Given the description of an element on the screen output the (x, y) to click on. 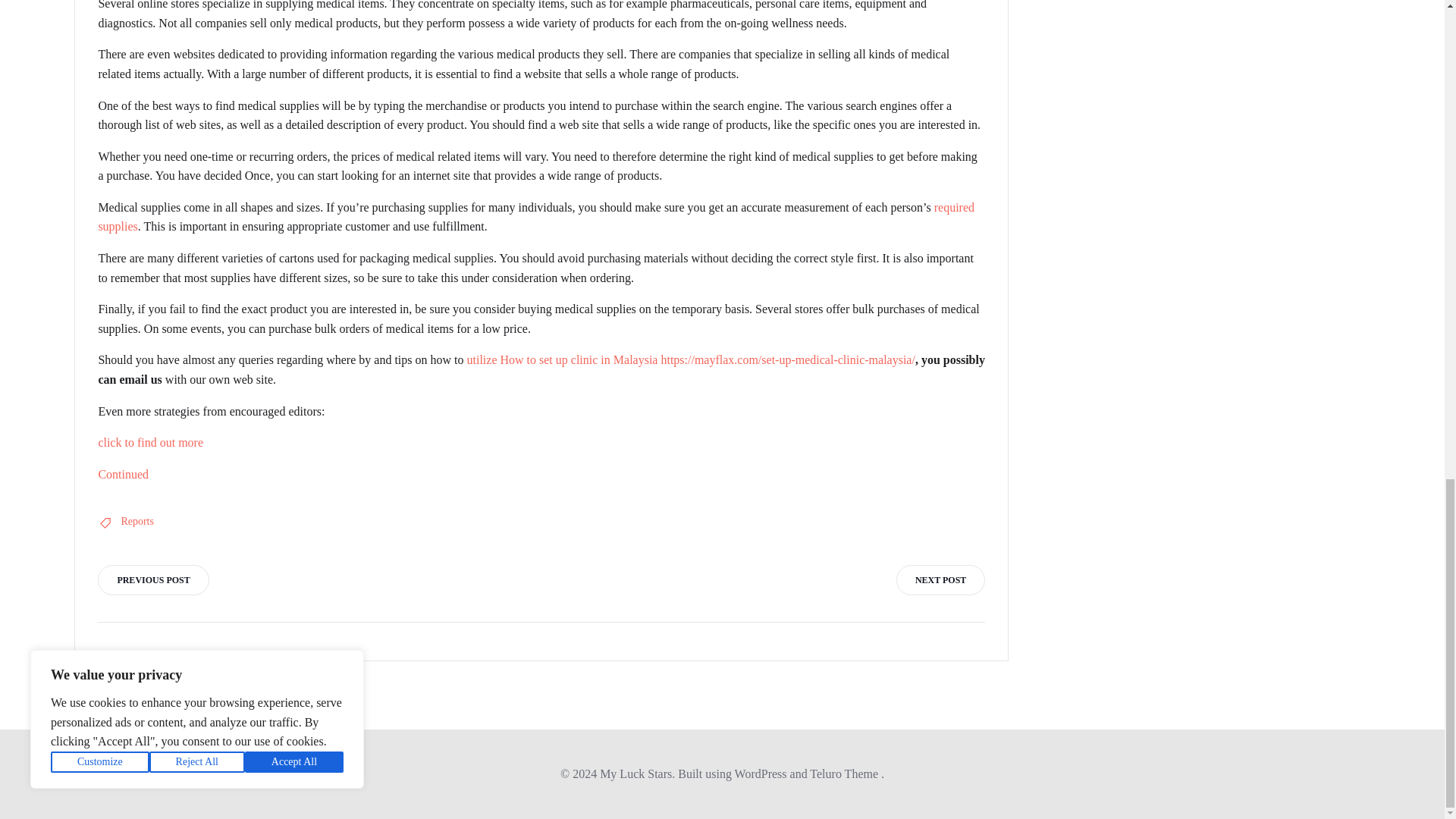
required supplies (535, 216)
utilize (482, 359)
Continued (122, 473)
Tag: Reports (137, 521)
PREVIOUS POST (152, 580)
click to find out more (150, 441)
Reports (137, 521)
NEXT POST (940, 580)
